Given the description of an element on the screen output the (x, y) to click on. 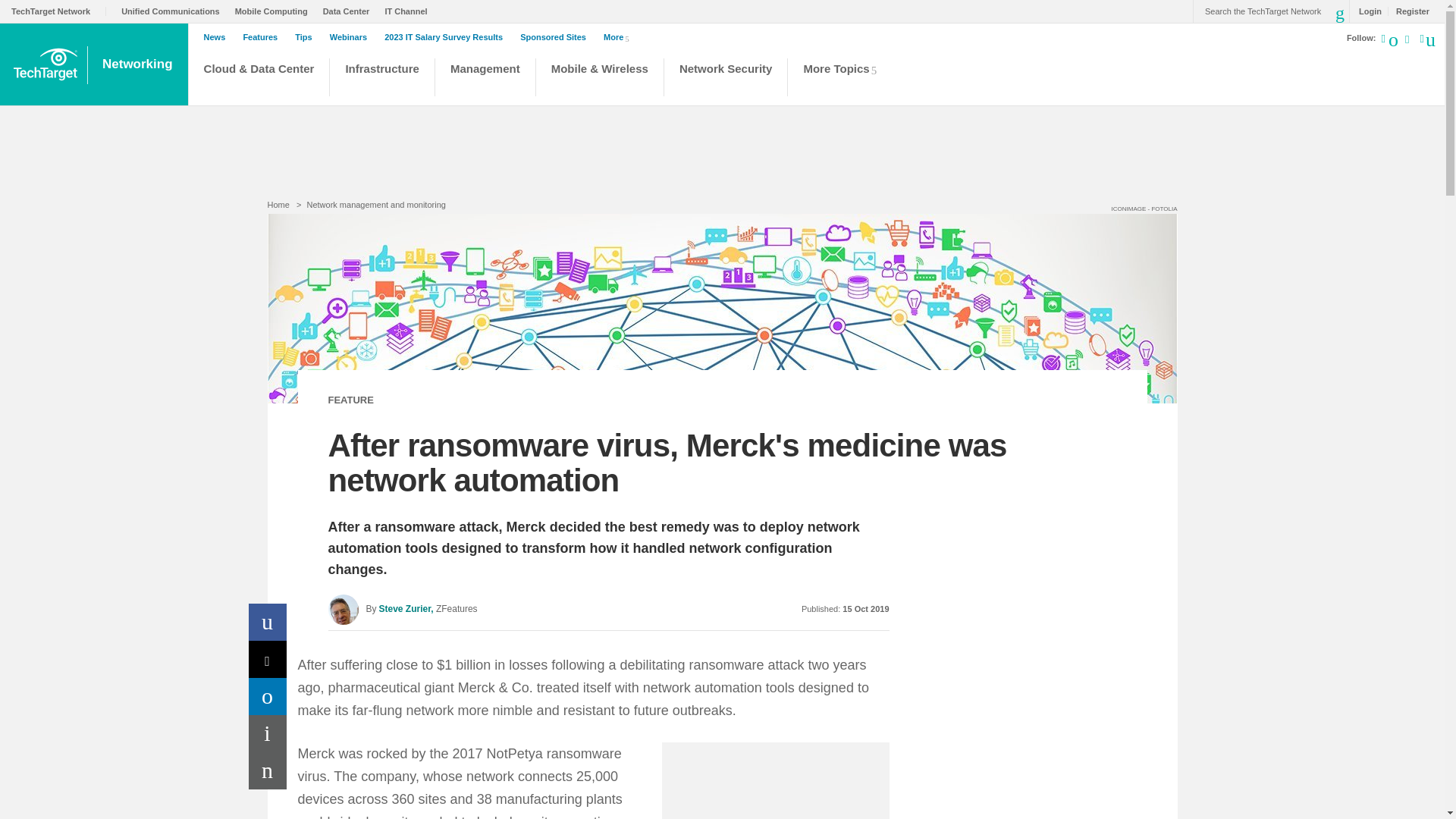
TechTarget Network (58, 10)
News (217, 36)
Share on LinkedIn (267, 696)
Management (484, 79)
More (619, 36)
Unified Communications (173, 10)
Data Center (350, 10)
Features (264, 36)
Share on Facebook (267, 621)
More Topics (844, 79)
